Given the description of an element on the screen output the (x, y) to click on. 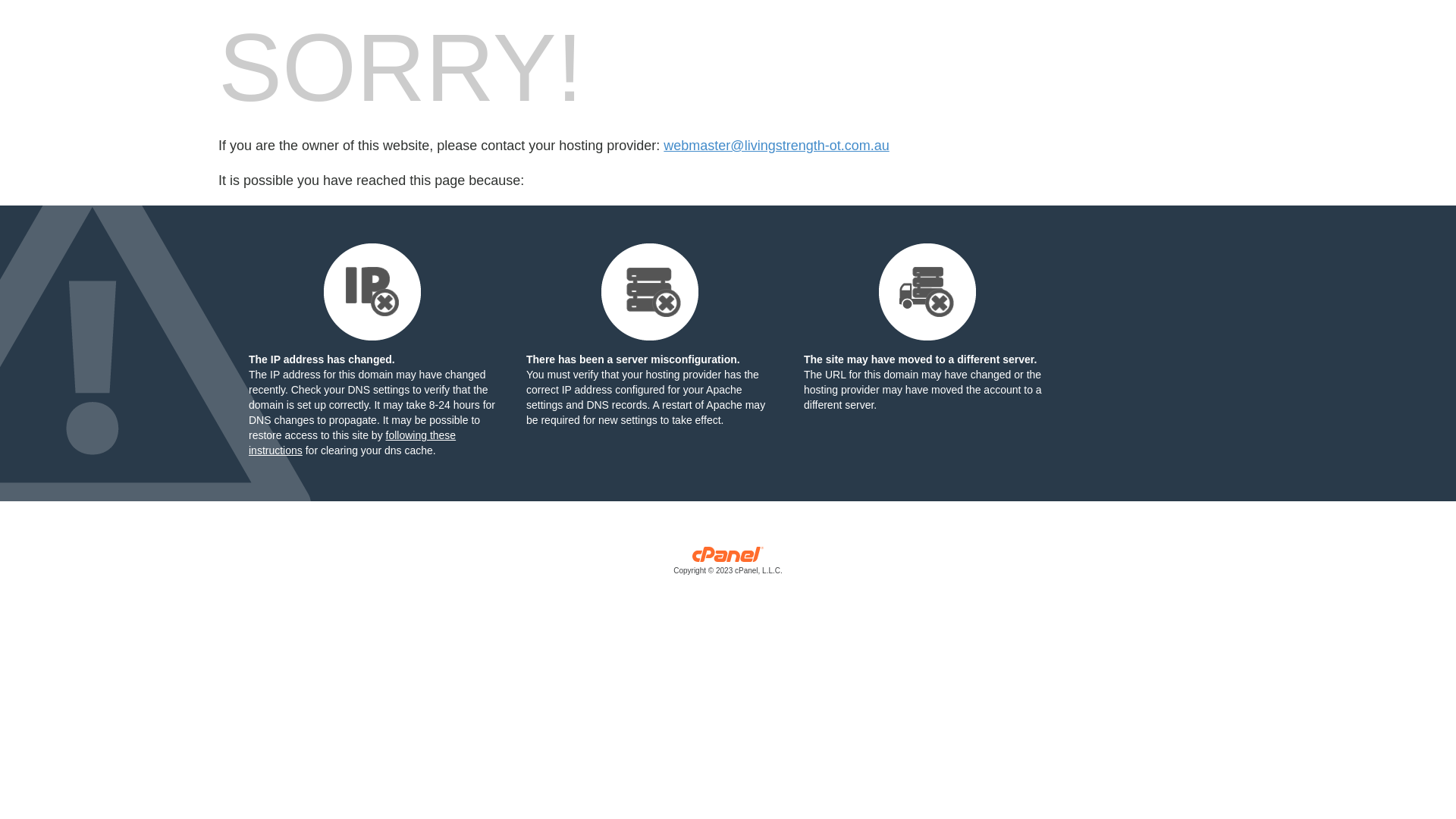
webmaster@livingstrength-ot.com.au Element type: text (775, 145)
following these instructions Element type: text (351, 442)
